Given the description of an element on the screen output the (x, y) to click on. 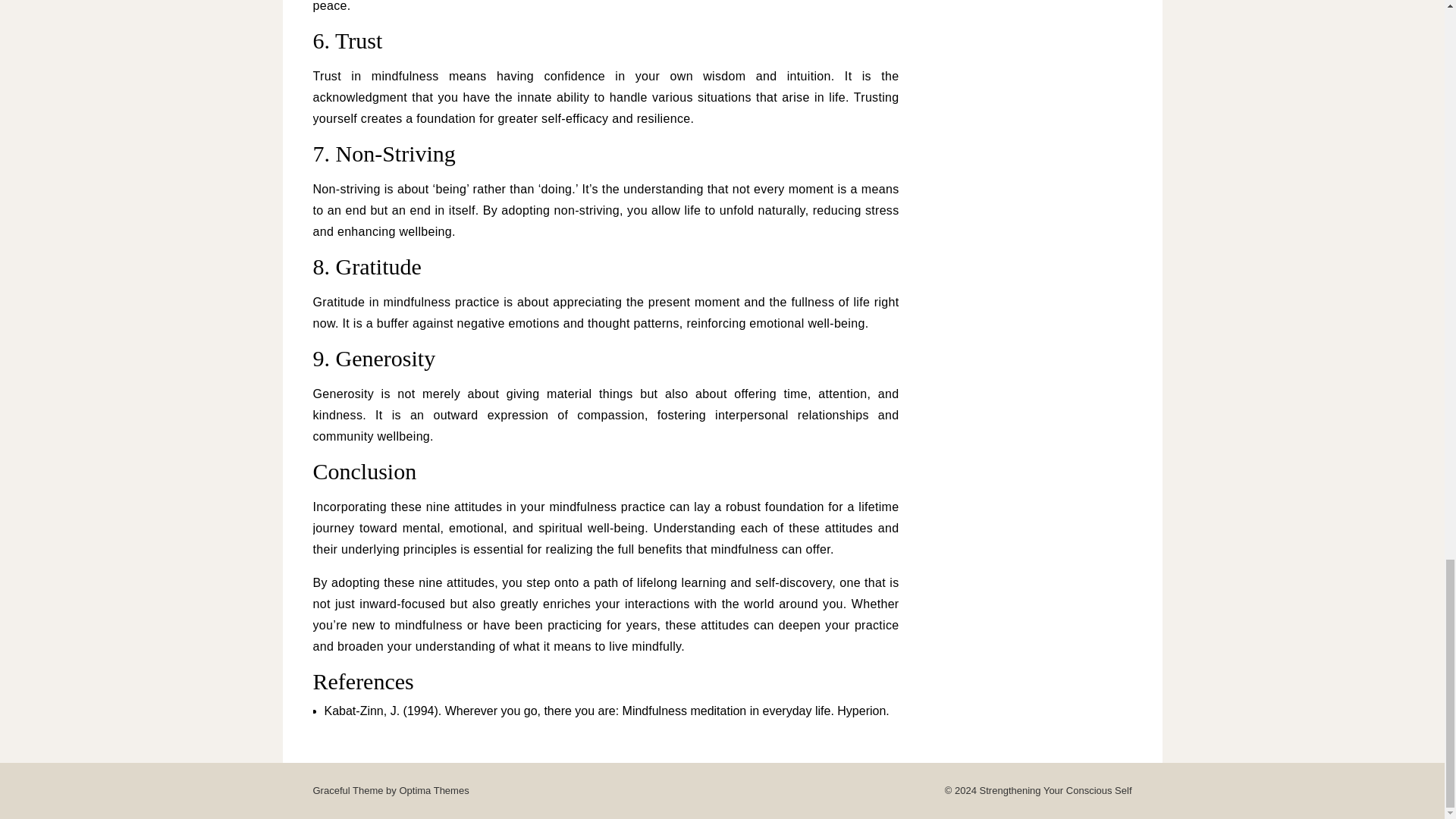
Optima Themes (433, 790)
